Given the description of an element on the screen output the (x, y) to click on. 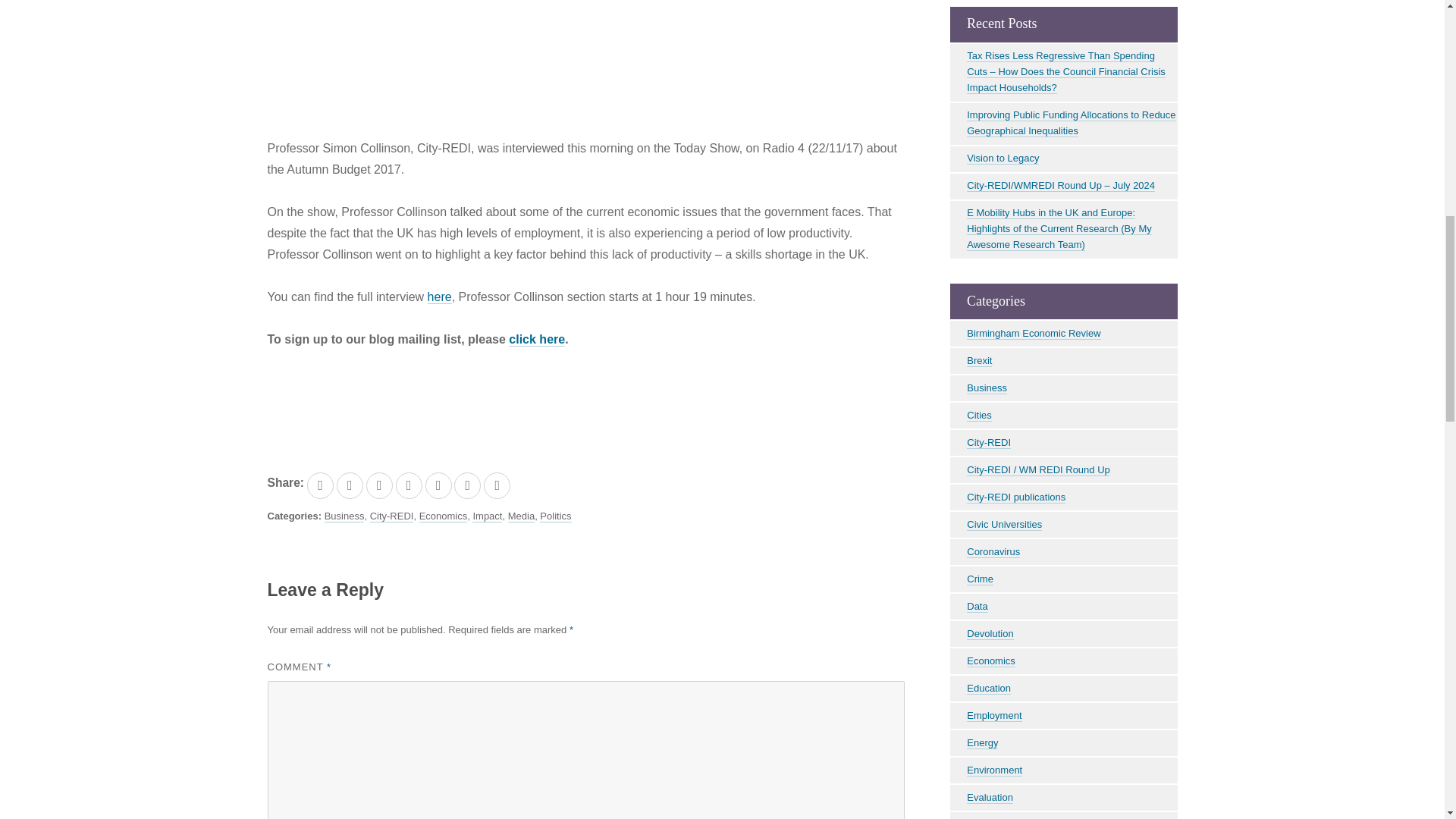
Share on Weibo (467, 485)
here (439, 296)
Economics (443, 516)
Politics (555, 516)
City-REDI (391, 516)
Impact (486, 516)
Share on LinkedIn (379, 485)
click here (536, 339)
Share by email (497, 485)
Business (344, 516)
